Given the description of an element on the screen output the (x, y) to click on. 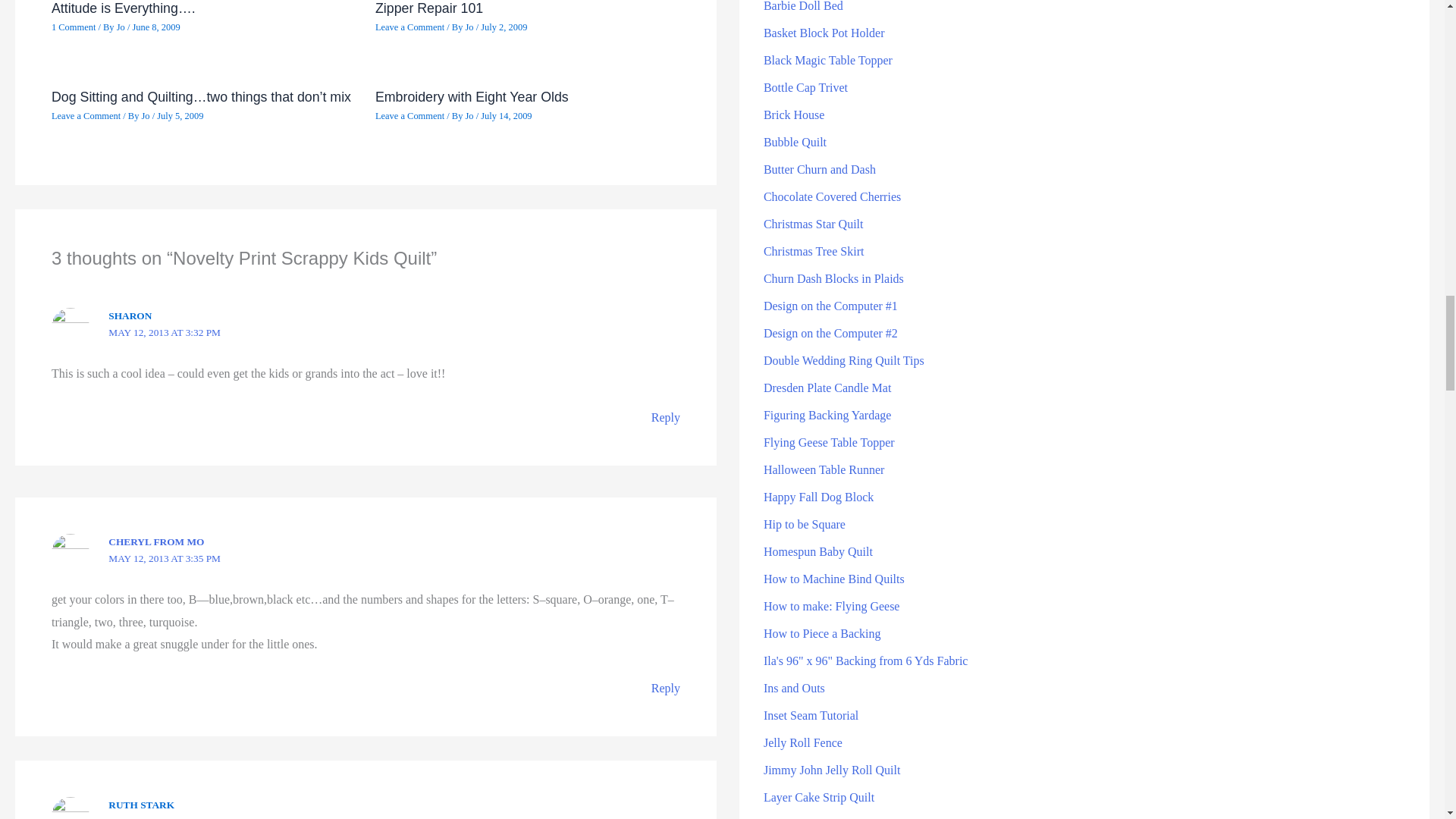
View all posts by Jo (470, 115)
View all posts by Jo (470, 27)
View all posts by Jo (146, 115)
View all posts by Jo (122, 27)
